Given the description of an element on the screen output the (x, y) to click on. 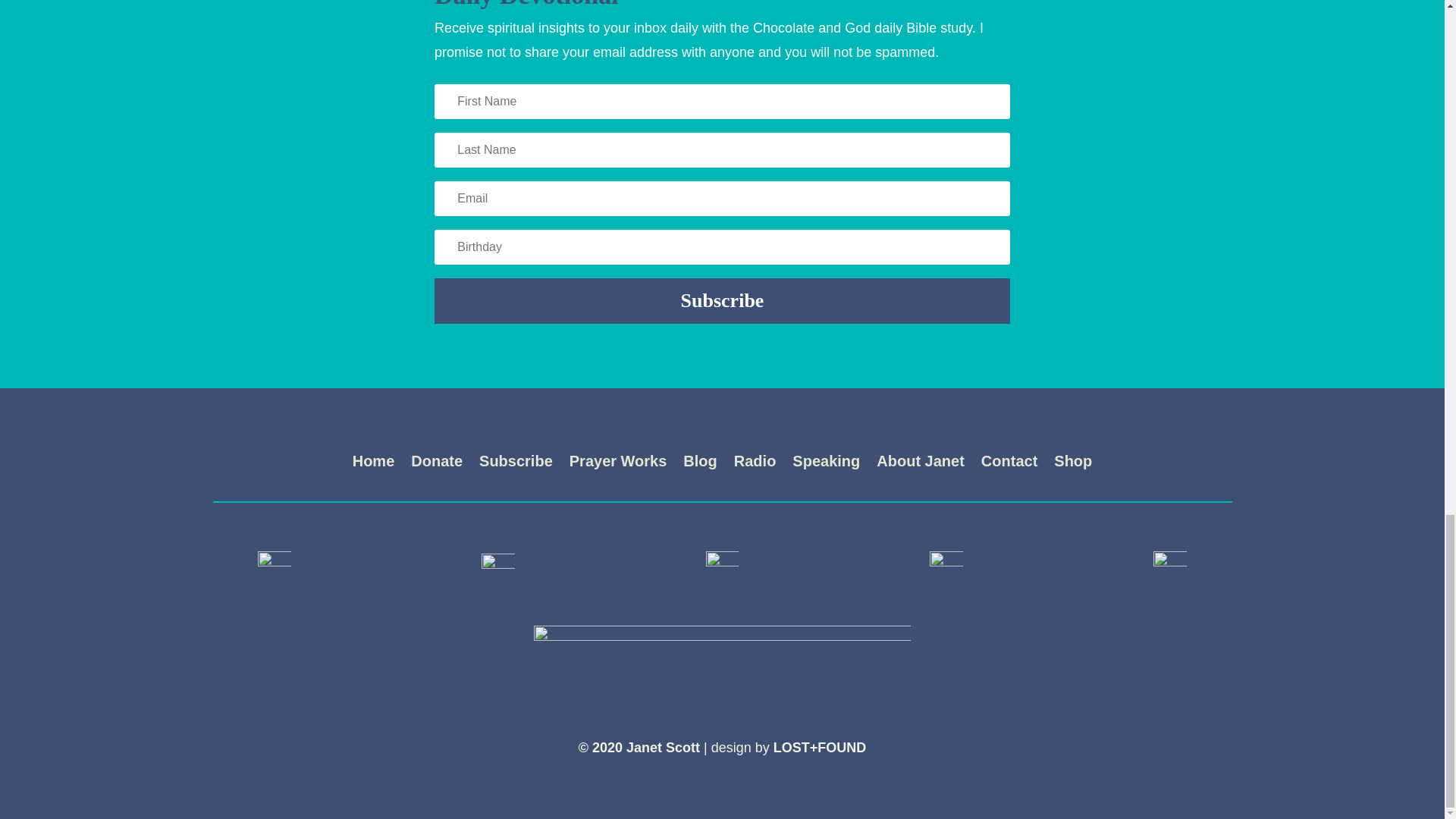
Prayer Works (617, 463)
Contact (1008, 463)
Speaking (826, 463)
Subscribe (721, 300)
Subscribe (516, 463)
facebok-footer-icon (274, 567)
Home (373, 463)
twitter-footer-icon (498, 566)
Radio (754, 463)
About Janet (919, 463)
